Given the description of an element on the screen output the (x, y) to click on. 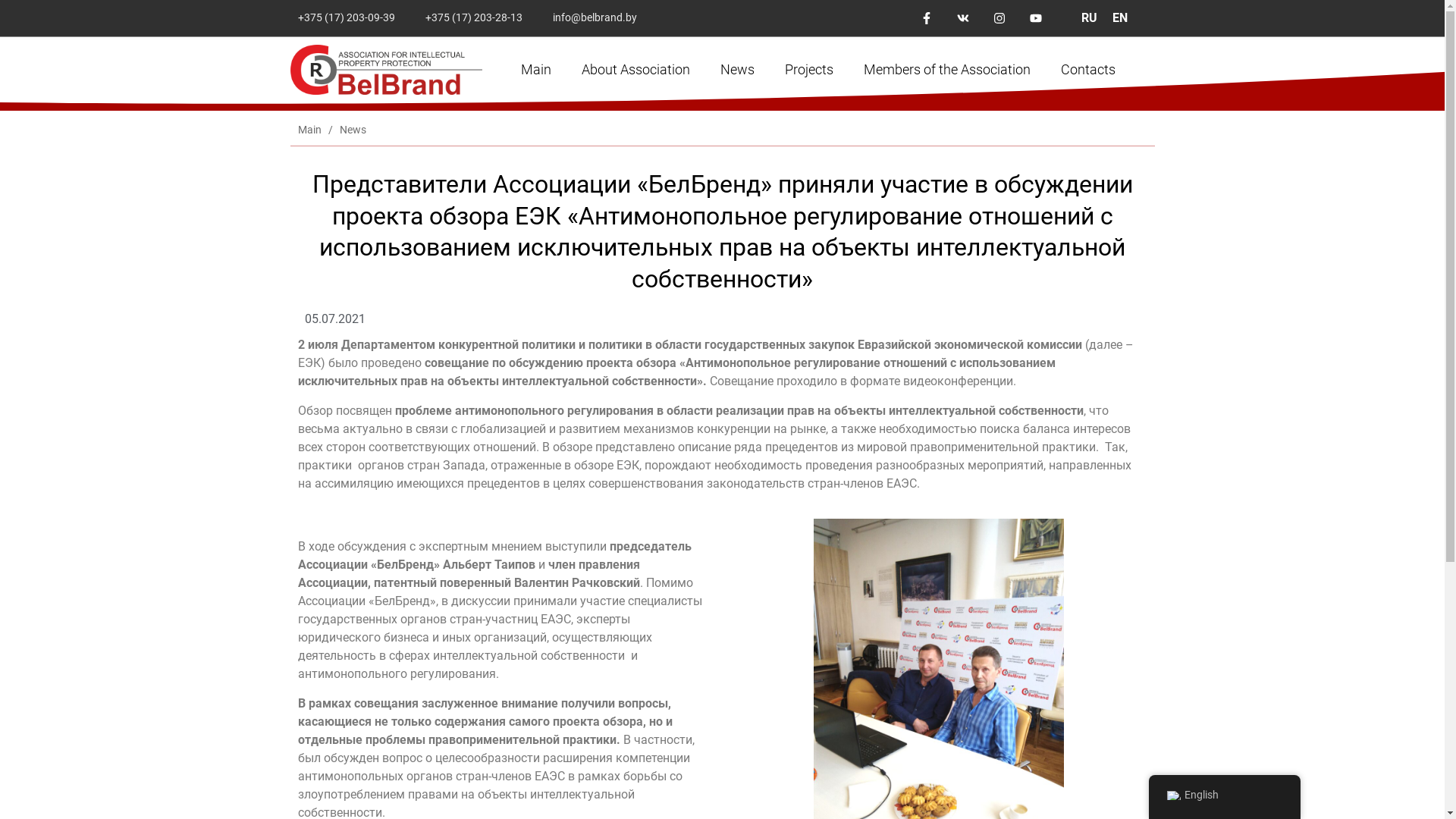
05.07.2021 Element type: text (326, 319)
News Element type: text (352, 130)
News Element type: text (737, 69)
Contacts Element type: text (1087, 69)
RU Element type: text (1088, 17)
Main Element type: text (535, 69)
About Association Element type: text (635, 69)
Members of the Association Element type: text (946, 69)
English Element type: text (1223, 795)
+375 (17) 203-09-39 Element type: text (341, 17)
info@belbrand.by Element type: text (590, 17)
EN Element type: text (1119, 17)
Projects Element type: text (808, 69)
English Element type: hover (1172, 795)
+375 (17) 203-28-13 Element type: text (469, 17)
Main Element type: text (308, 130)
